Given the description of an element on the screen output the (x, y) to click on. 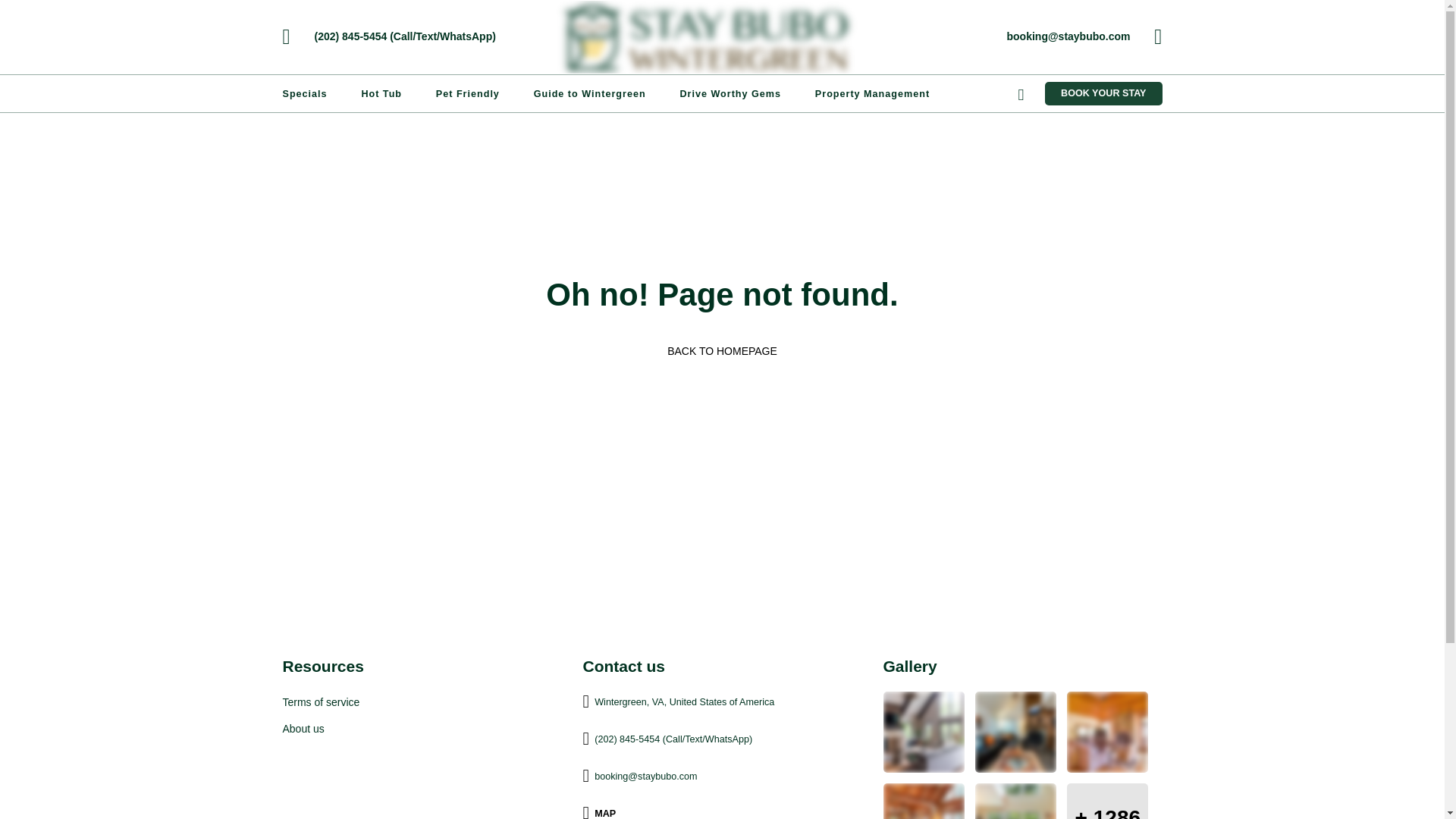
MAP (604, 813)
BOOK YOUR STAY (1103, 93)
Property Management (871, 93)
Pet Friendly (467, 93)
BACK TO HOMEPAGE (721, 350)
Terms of service (421, 701)
About us (421, 728)
Guide to Wintergreen (590, 93)
Hot Tub (381, 93)
Specials (304, 93)
